Given the description of an element on the screen output the (x, y) to click on. 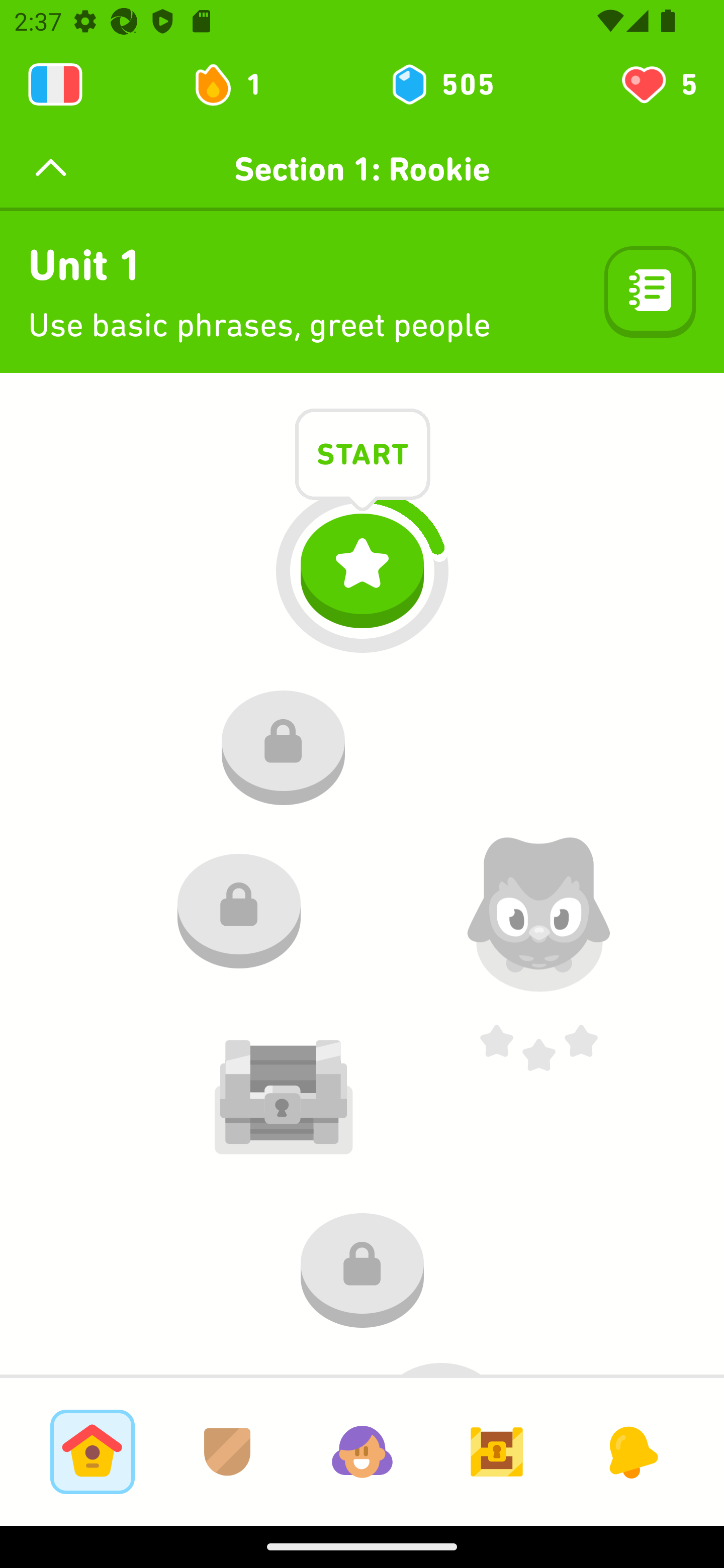
Learning 2131888976 (55, 84)
1 day streak 1 (236, 84)
505 (441, 84)
You have 5 hearts left 5 (657, 84)
Section 1: Rookie (362, 169)
START (362, 457)
Learn Tab (91, 1451)
Leagues Tab (227, 1451)
Profile Tab (361, 1451)
Goals Tab (496, 1451)
News Tab (631, 1451)
